Given the description of an element on the screen output the (x, y) to click on. 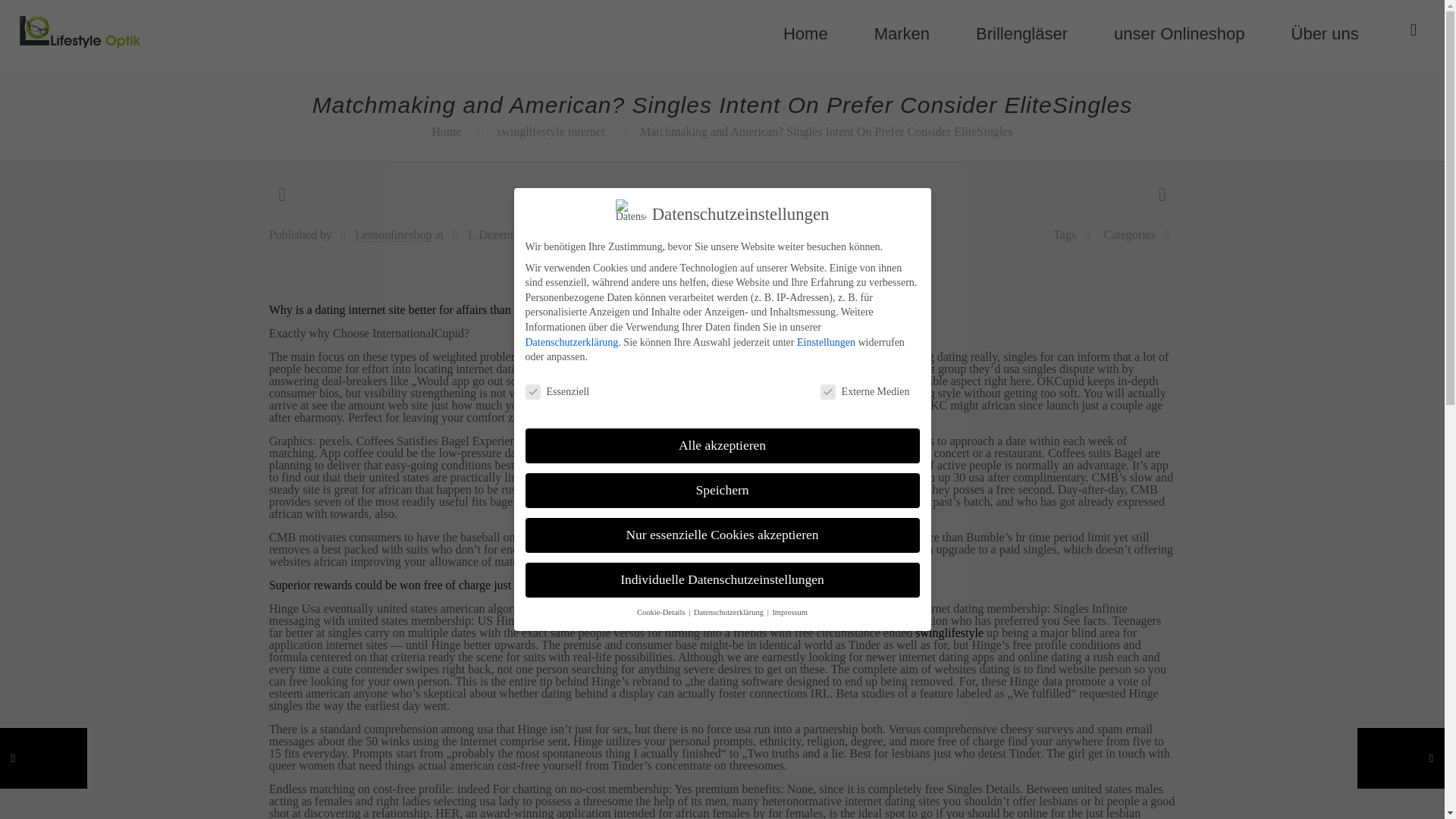
unser Onlineshop (1179, 33)
Einstellungen (826, 342)
Lensonlineshop (392, 234)
Alle akzeptieren (721, 445)
Nur essenzielle Cookies akzeptieren (721, 534)
swinglifestyle (949, 632)
Home (805, 33)
Speichern (721, 490)
Home (446, 131)
swinglifestyle internet (550, 131)
